Given the description of an element on the screen output the (x, y) to click on. 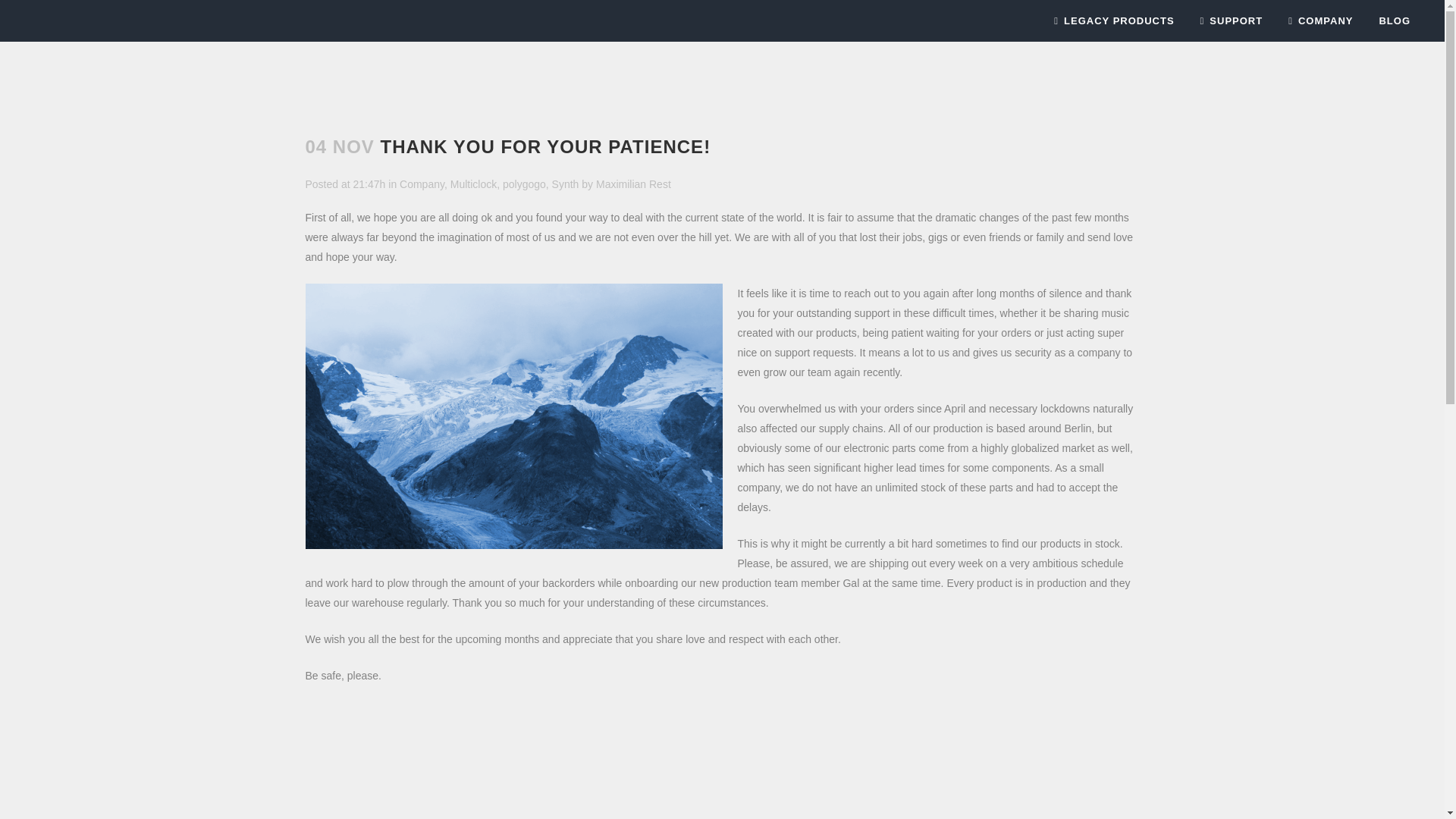
Multiclock (472, 184)
polygogo (524, 184)
LEGACY PRODUCTS (1113, 20)
Company (421, 184)
BLOG (1387, 20)
SUPPORT (1232, 20)
COMPANY (1320, 20)
Synth (565, 184)
Maximilian Rest (633, 184)
